Given the description of an element on the screen output the (x, y) to click on. 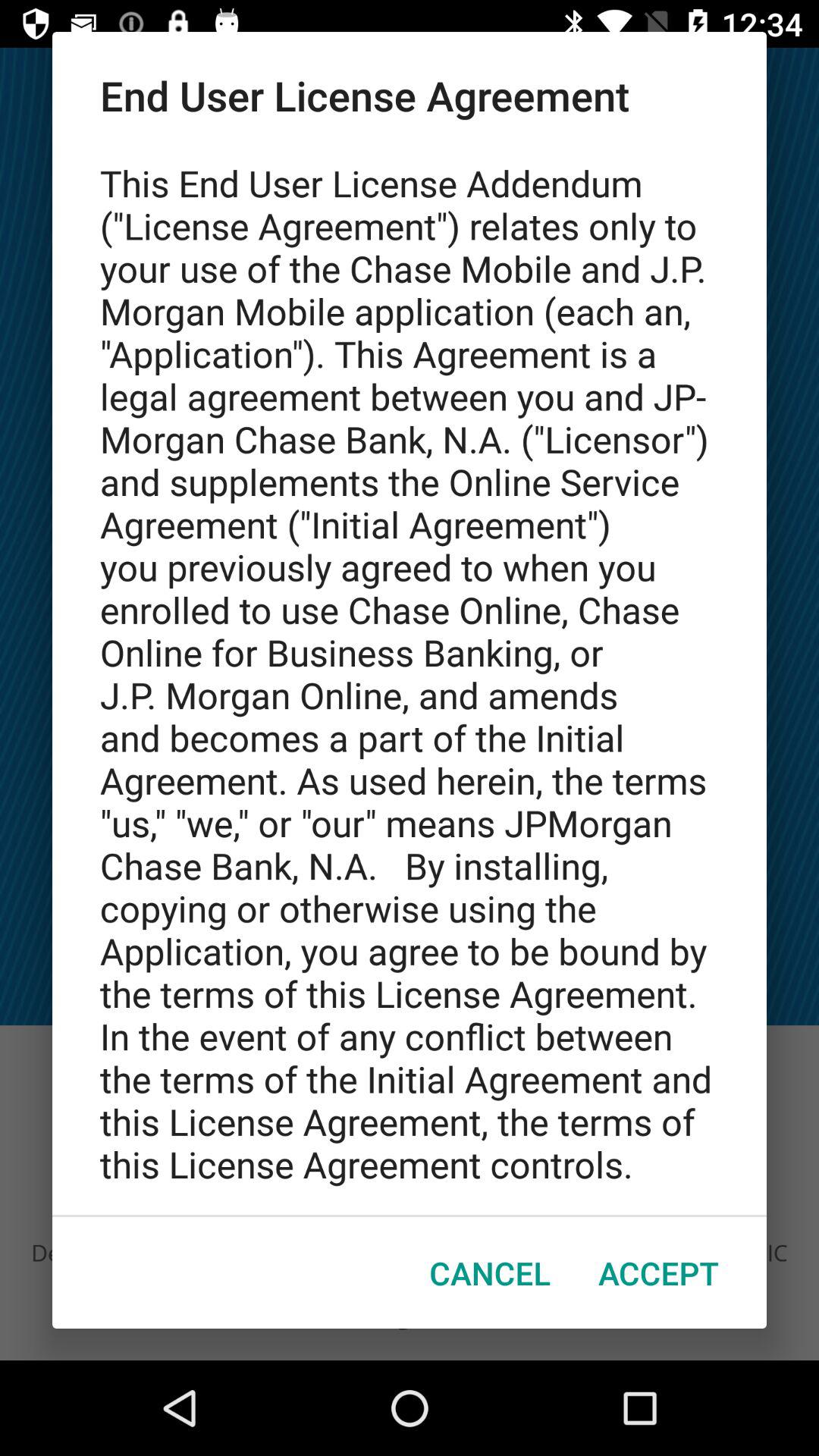
press the app below this end user (489, 1272)
